Given the description of an element on the screen output the (x, y) to click on. 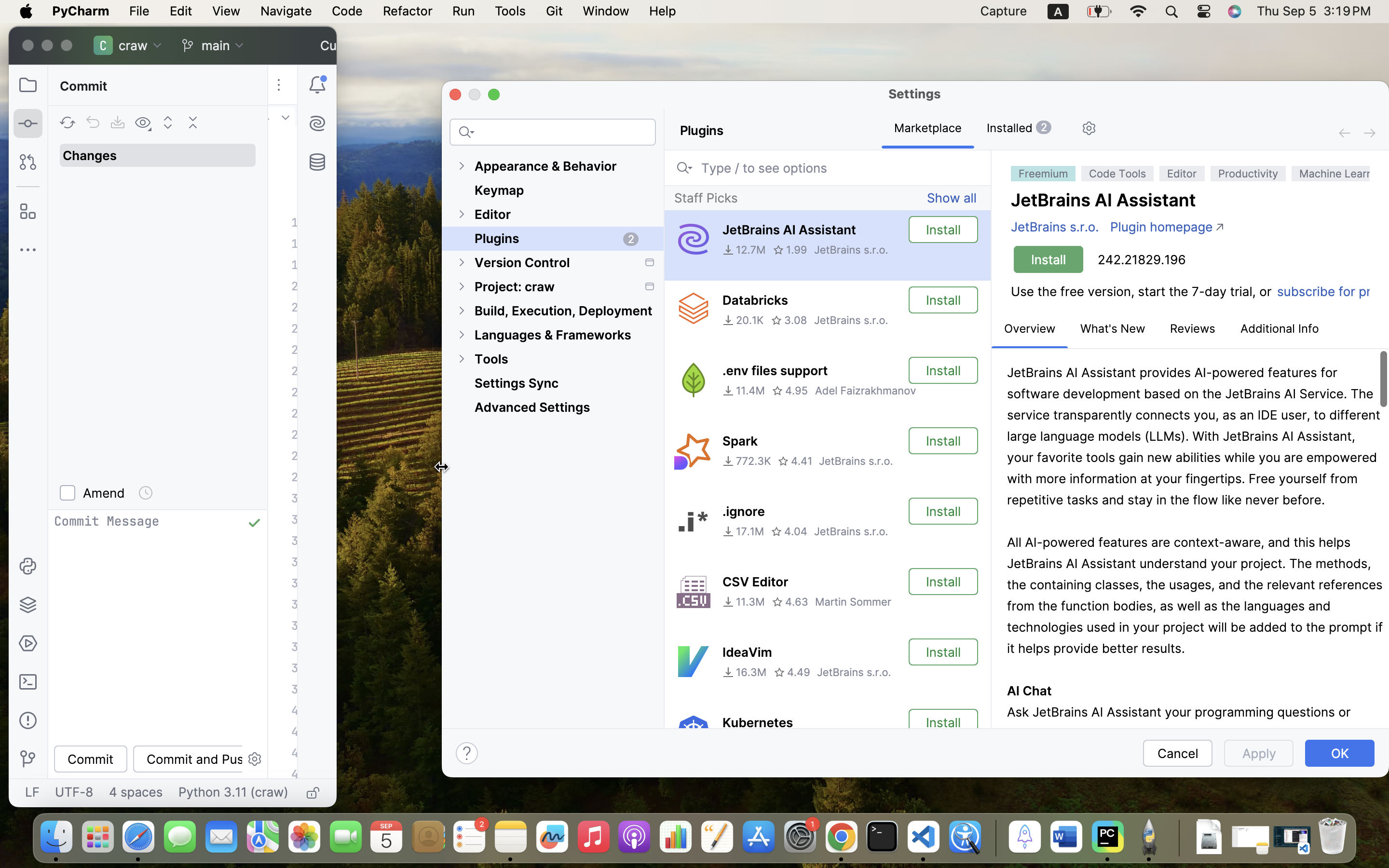
True Element type: AXRadioButton (927, 128)
JetBrains AI Assistant Element type: AXStaticText (788, 229)
Martin Sommer Element type: AXStaticText (853, 601)
IdeaVim Element type: AXStaticText (746, 652)
1.99 Element type: AXStaticText (789, 249)
